Given the description of an element on the screen output the (x, y) to click on. 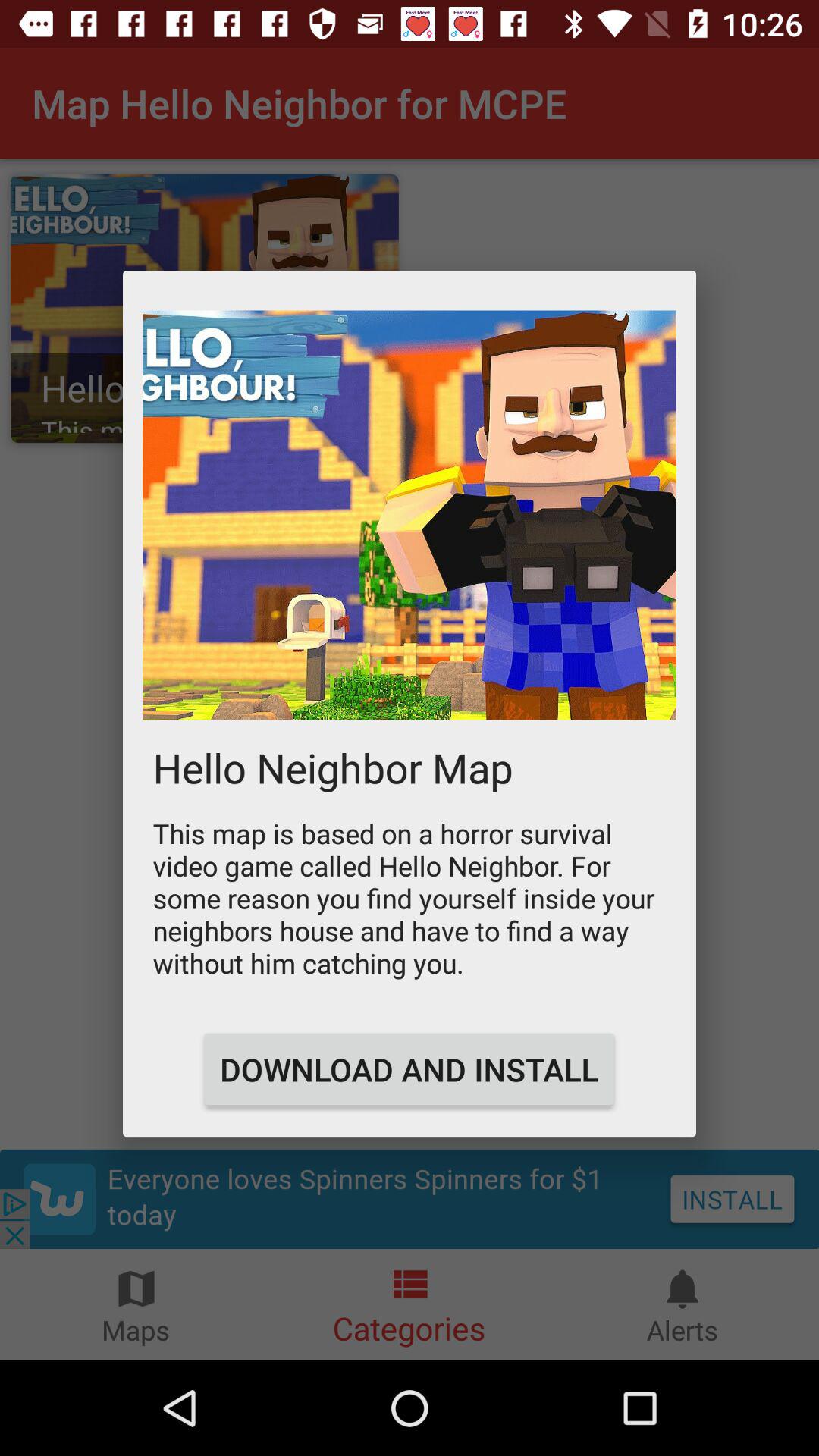
press the item below the this map is (409, 1069)
